Given the description of an element on the screen output the (x, y) to click on. 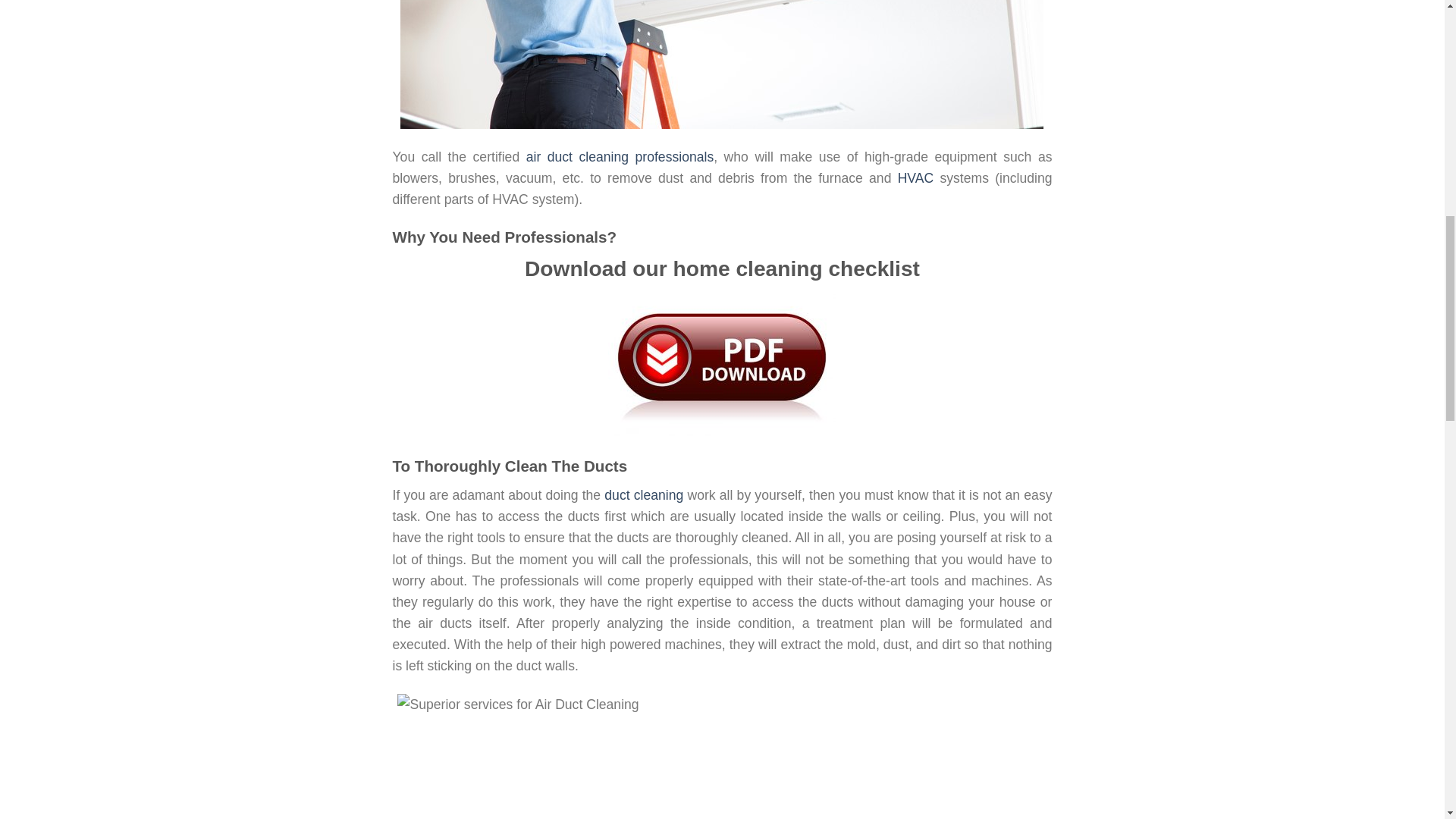
air duct cleaning professionals (619, 156)
HVAC (916, 177)
duct cleaning (643, 494)
